Given the description of an element on the screen output the (x, y) to click on. 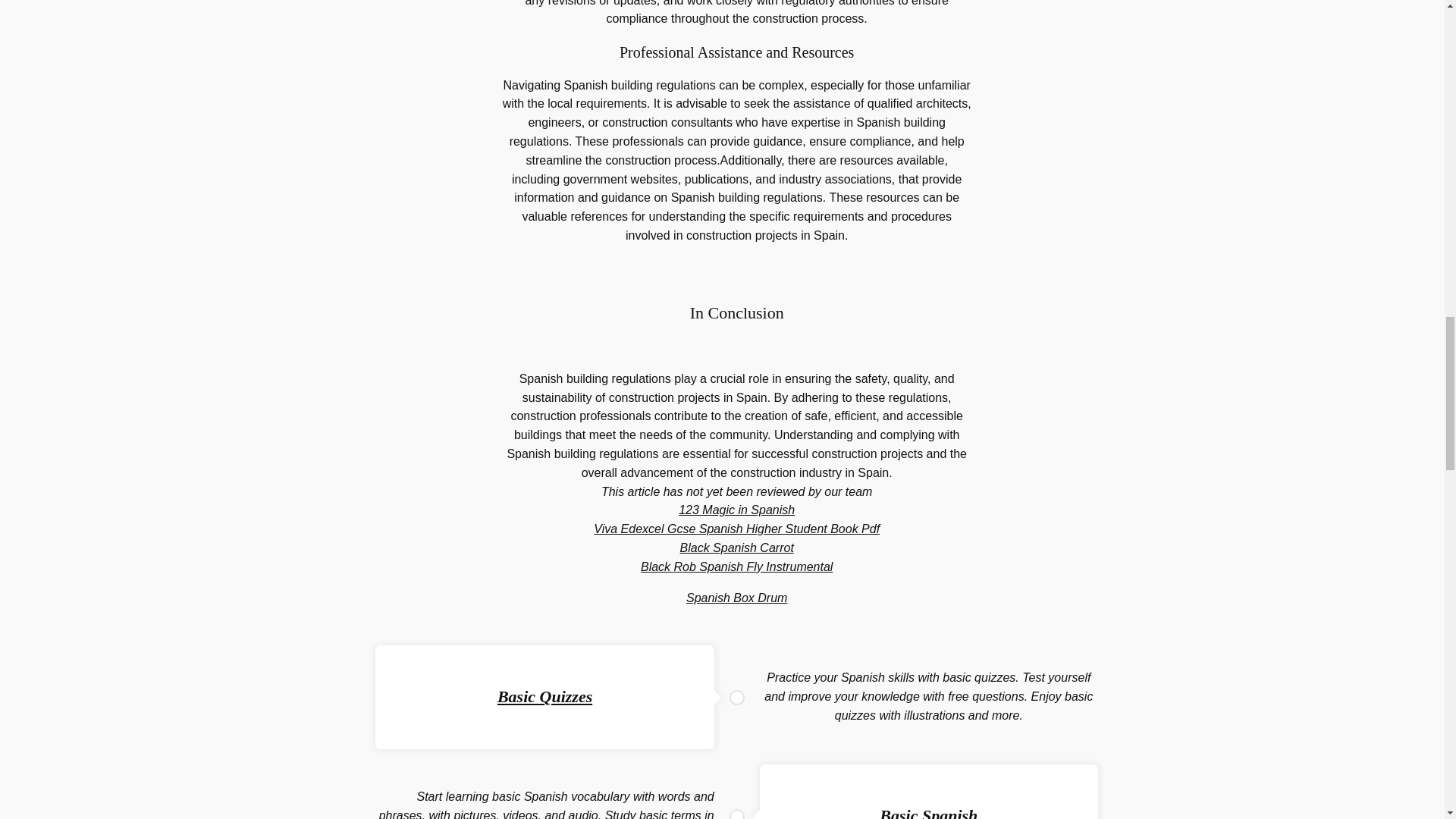
123 Magic in Spanish (736, 509)
Viva Edexcel Gcse Spanish Higher Student Book Pdf (736, 528)
Spanish Box Drum (736, 597)
Basic Quizzes (544, 696)
Black Spanish Carrot (736, 547)
Basic Spanish (927, 812)
Black Rob Spanish Fly Instrumental (736, 566)
